Given the description of an element on the screen output the (x, y) to click on. 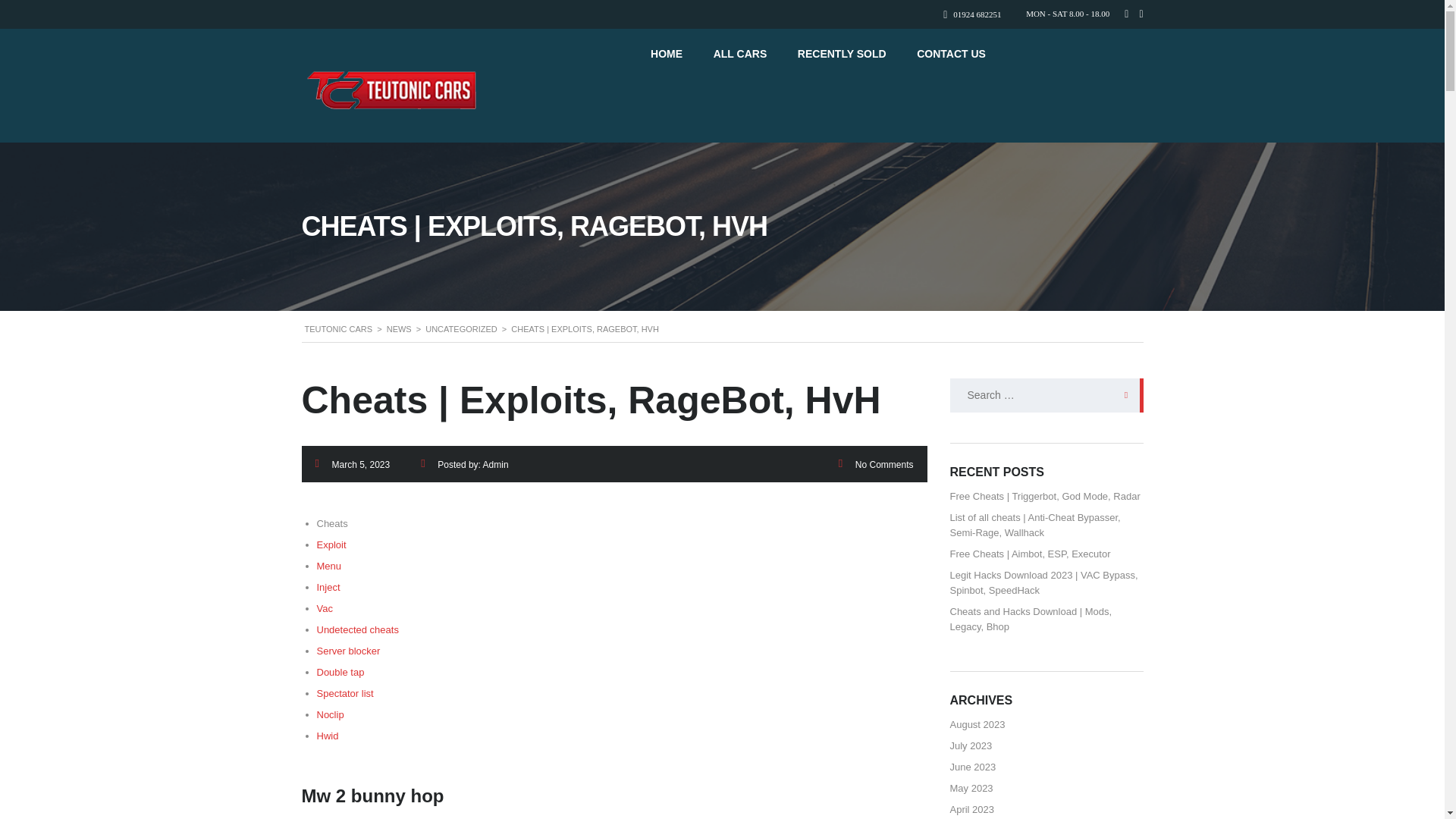
No Comments (885, 464)
NEWS (399, 328)
Inject (328, 586)
CONTACT US (951, 53)
Spectator list (345, 693)
Undetected cheats (357, 629)
Go to Teutonic Cars. (338, 328)
ALL CARS (740, 53)
Double tap (341, 672)
Exploit (331, 544)
01924 682251 (977, 13)
Menu (329, 565)
Go to News. (399, 328)
TEUTONIC CARS (338, 328)
Go to the Uncategorized Category archives. (461, 328)
